Given the description of an element on the screen output the (x, y) to click on. 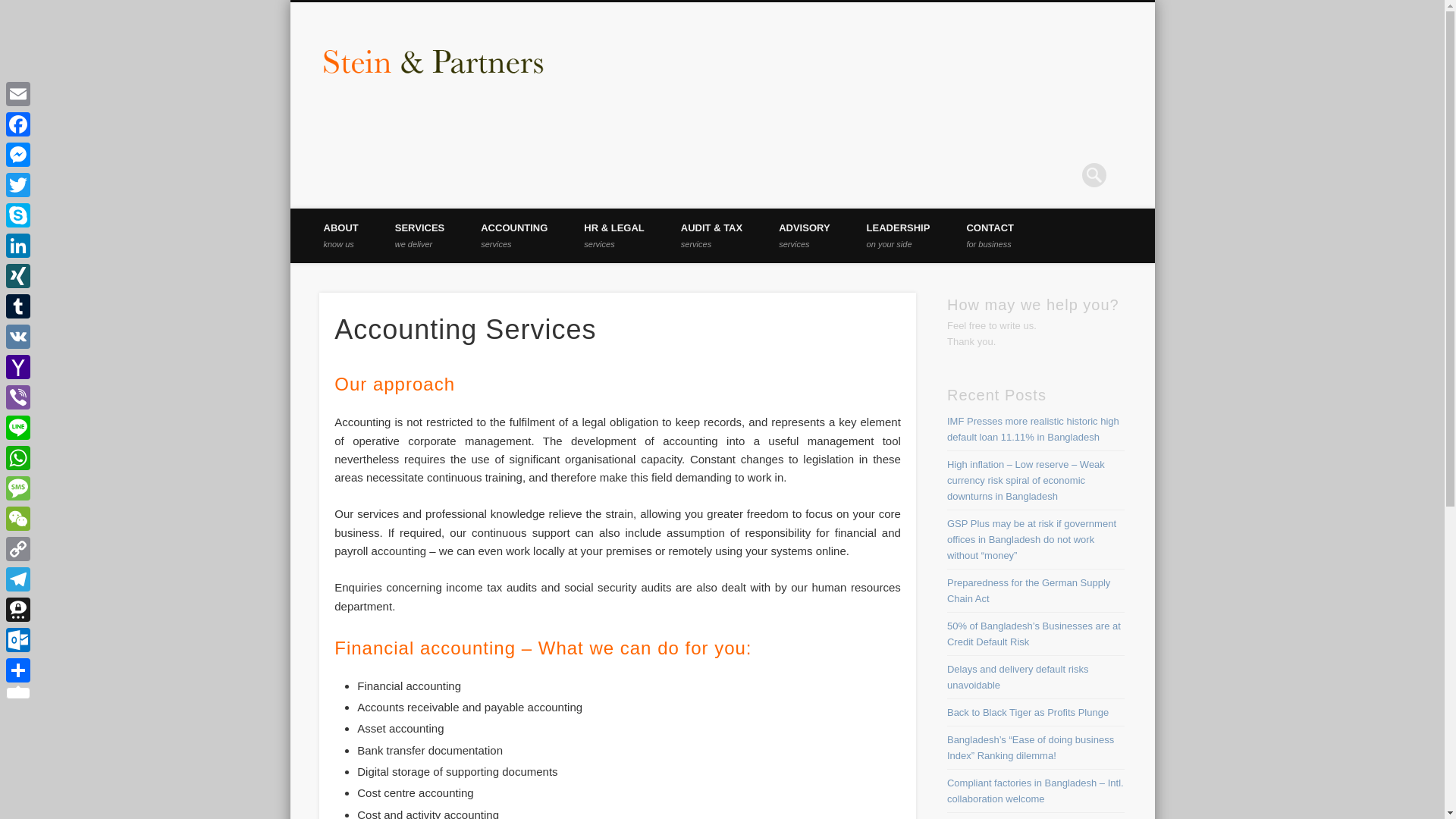
Search (898, 235)
Preparedness for the German Supply Chain Act (514, 235)
